Given the description of an element on the screen output the (x, y) to click on. 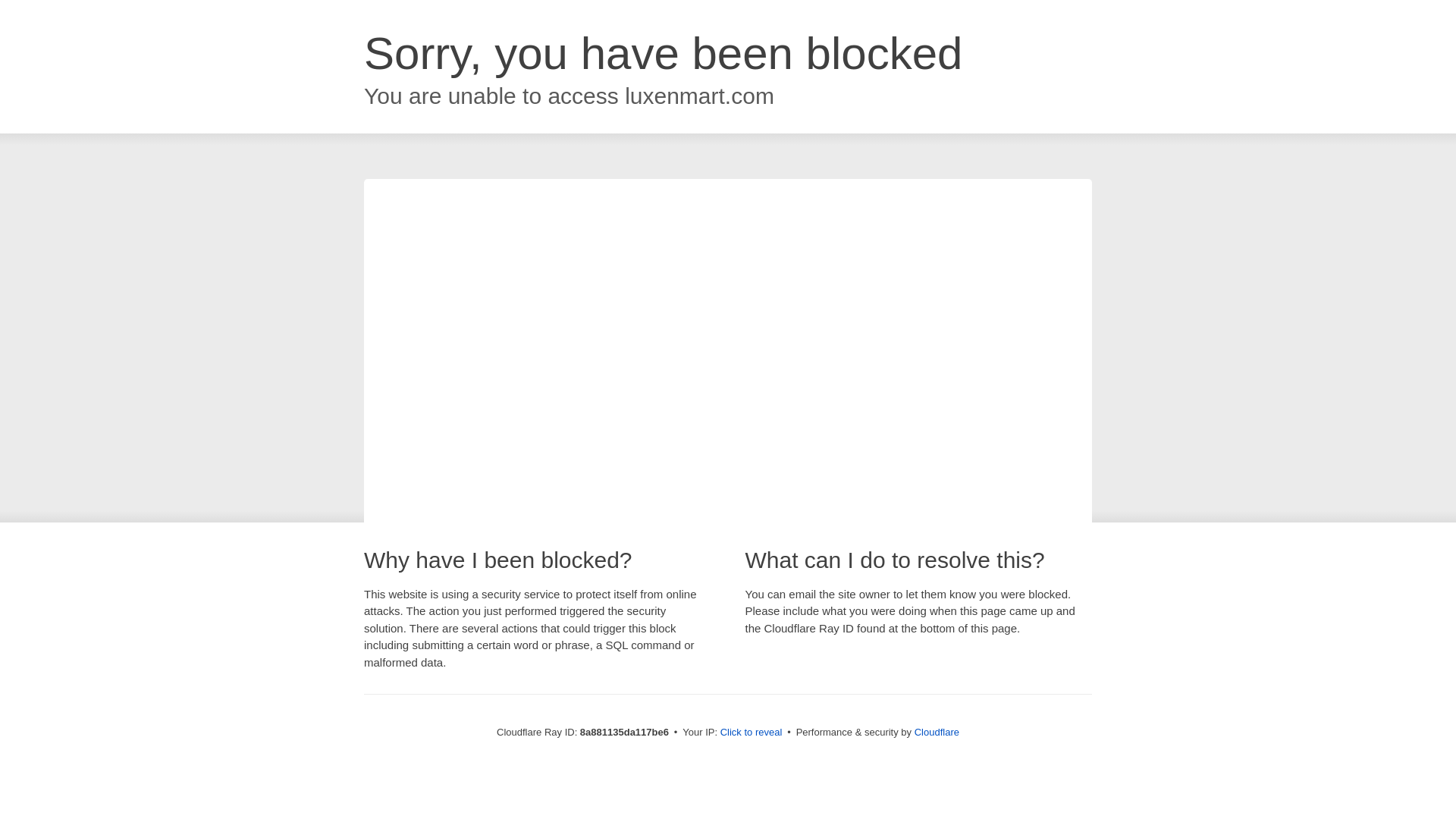
Cloudflare (936, 731)
Click to reveal (751, 732)
